Given the description of an element on the screen output the (x, y) to click on. 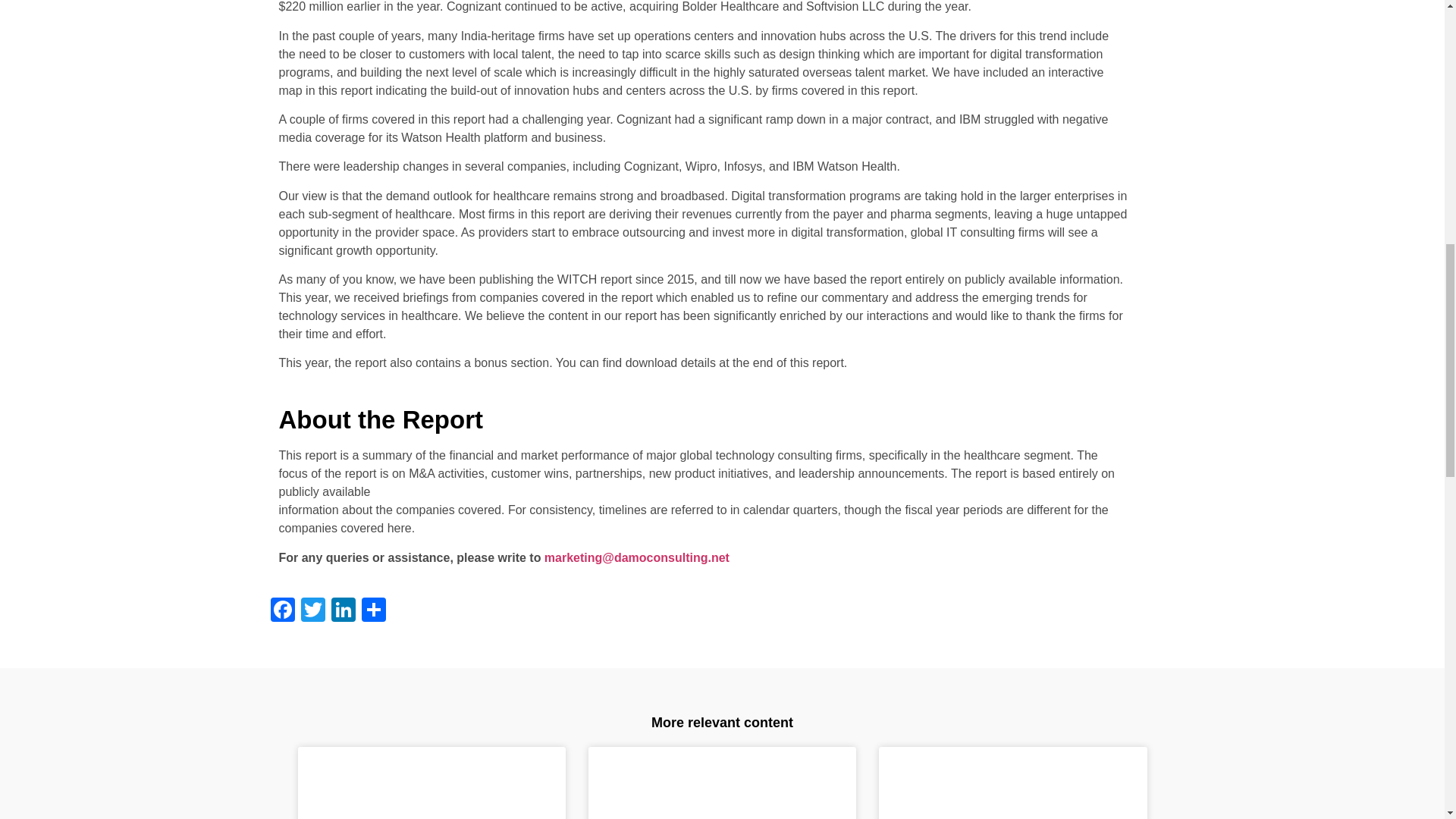
Twitter (312, 611)
LinkedIn (342, 611)
Facebook (281, 611)
